Given the description of an element on the screen output the (x, y) to click on. 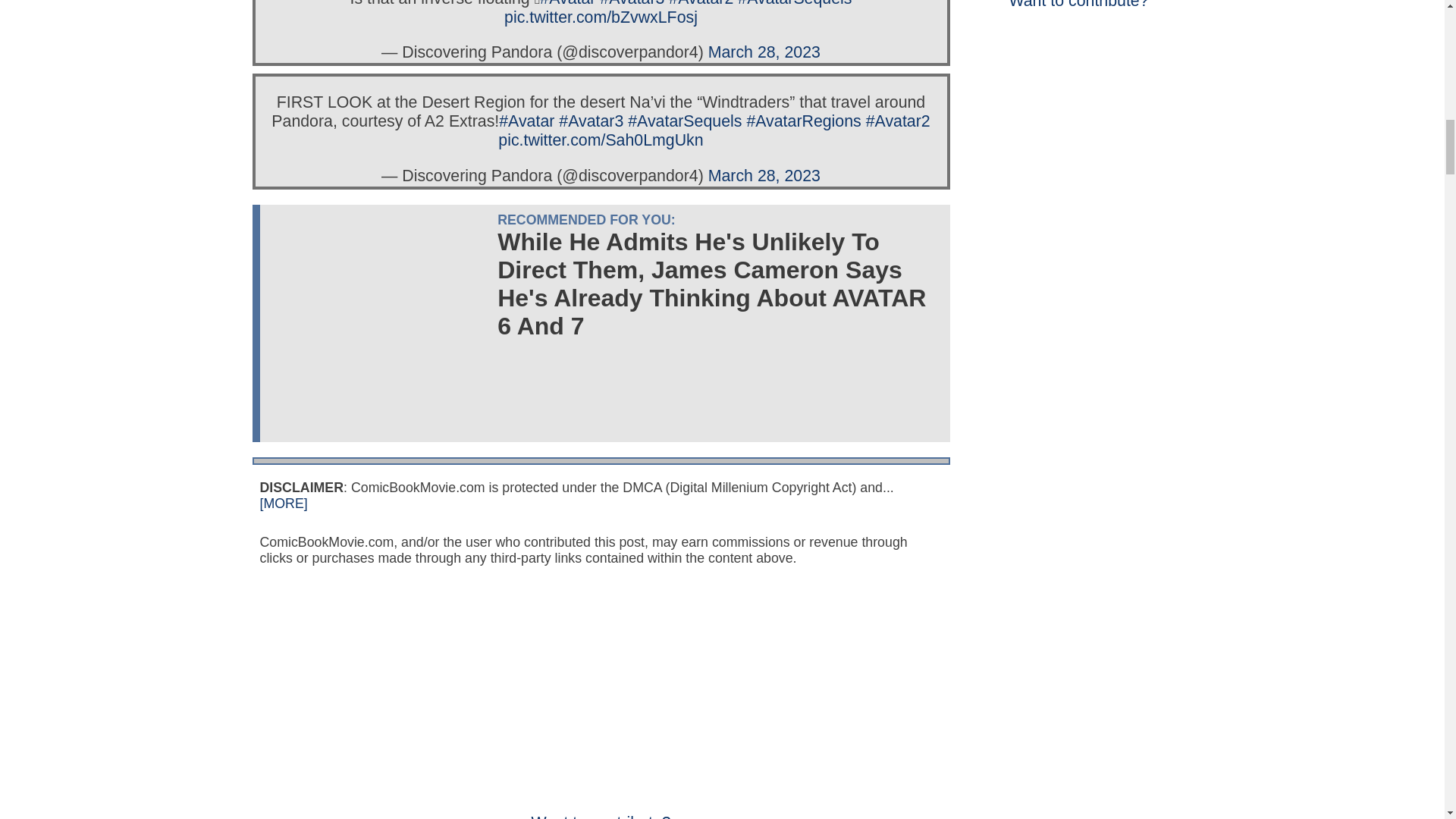
Find out how to become a contributor! (600, 806)
